Given the description of an element on the screen output the (x, y) to click on. 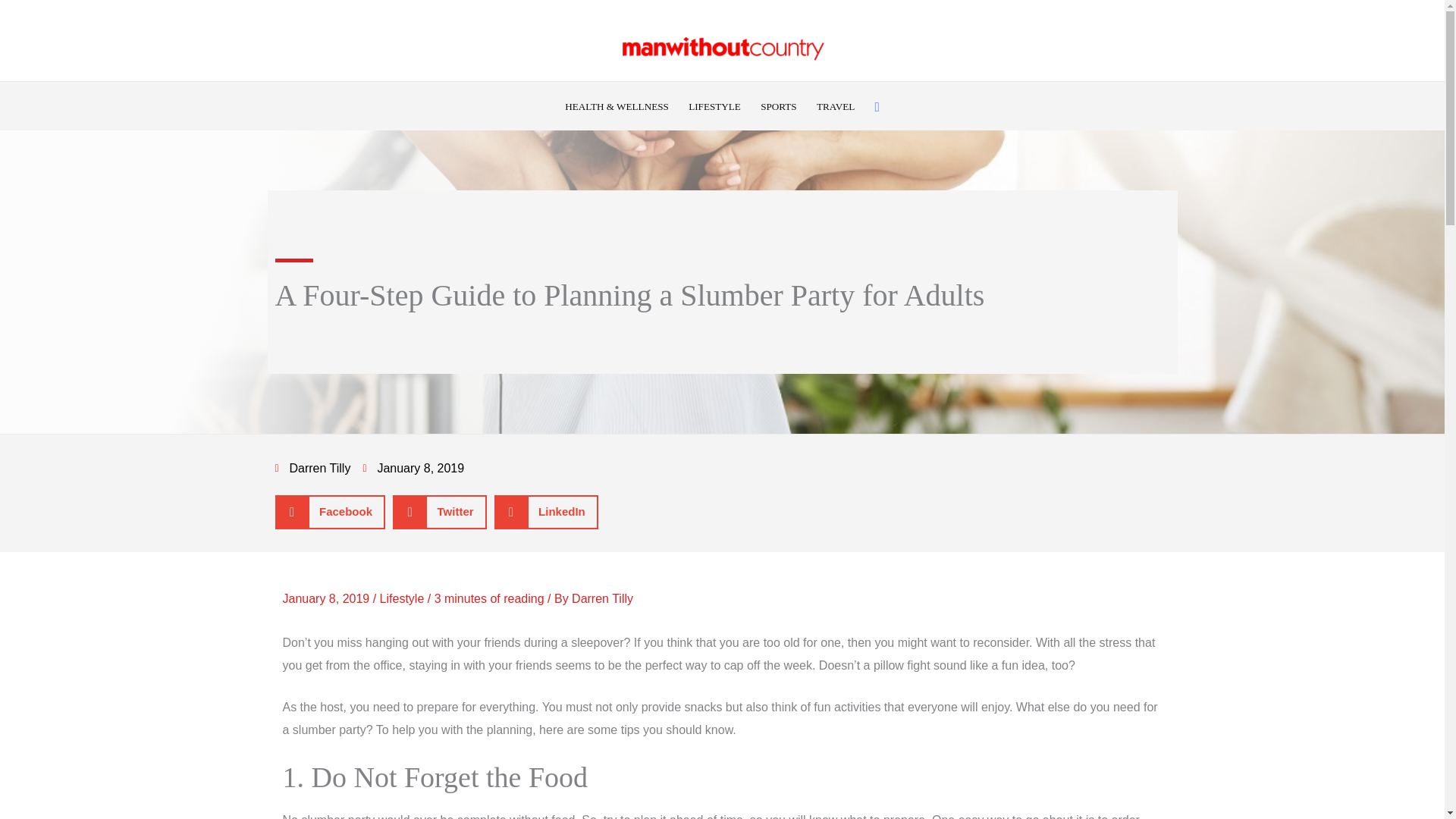
View all posts by Darren Tilly (602, 598)
TRAVEL (835, 106)
Darren Tilly (312, 468)
LIFESTYLE (714, 106)
January 8, 2019 (413, 468)
SPORTS (778, 106)
Lifestyle (402, 598)
Darren Tilly (602, 598)
